Given the description of an element on the screen output the (x, y) to click on. 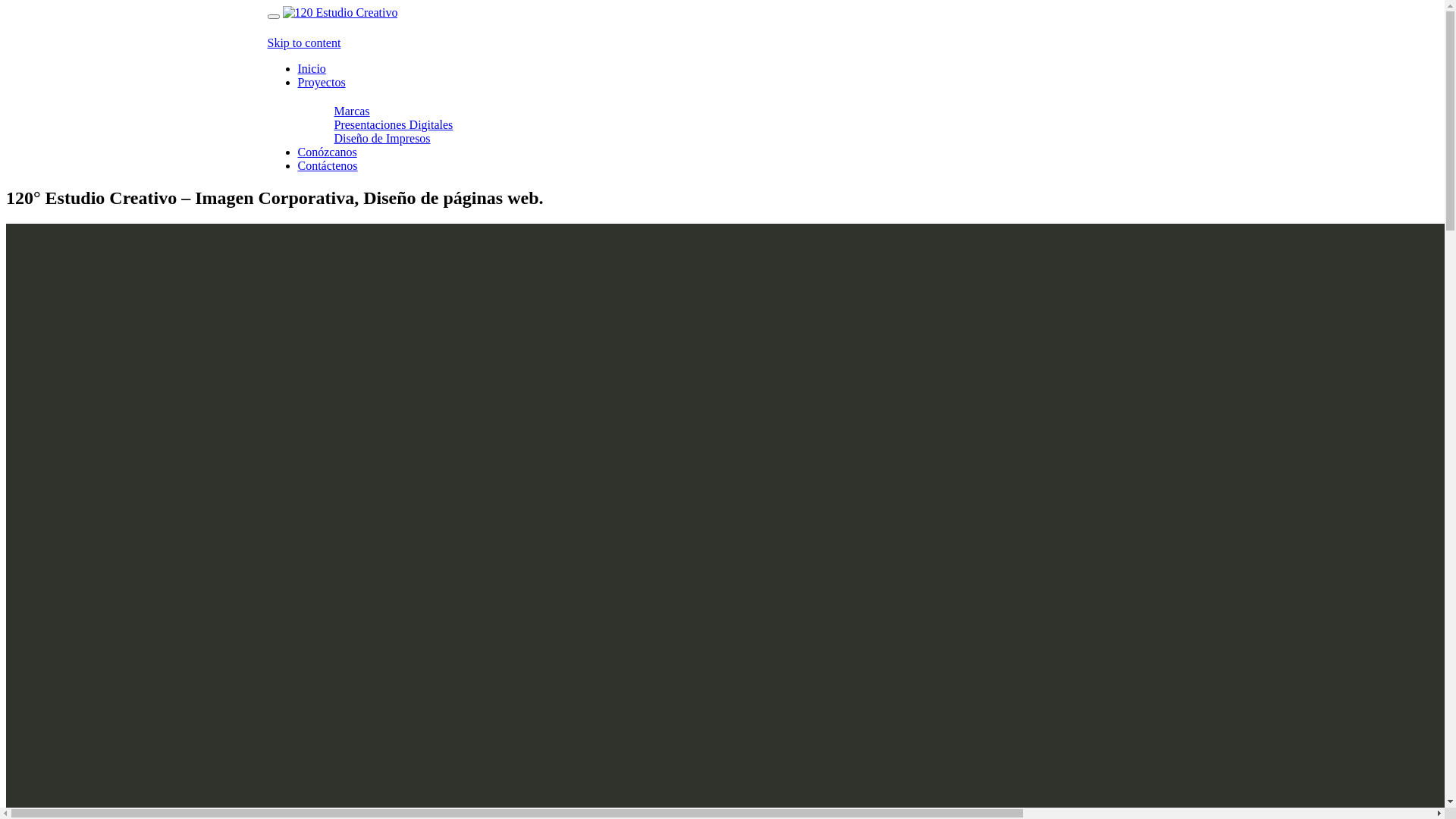
Proyectos Element type: text (321, 81)
Skip to content Element type: text (303, 42)
Marcas Element type: text (351, 110)
Presentaciones Digitales Element type: text (393, 124)
Inicio Element type: text (311, 68)
